Given the description of an element on the screen output the (x, y) to click on. 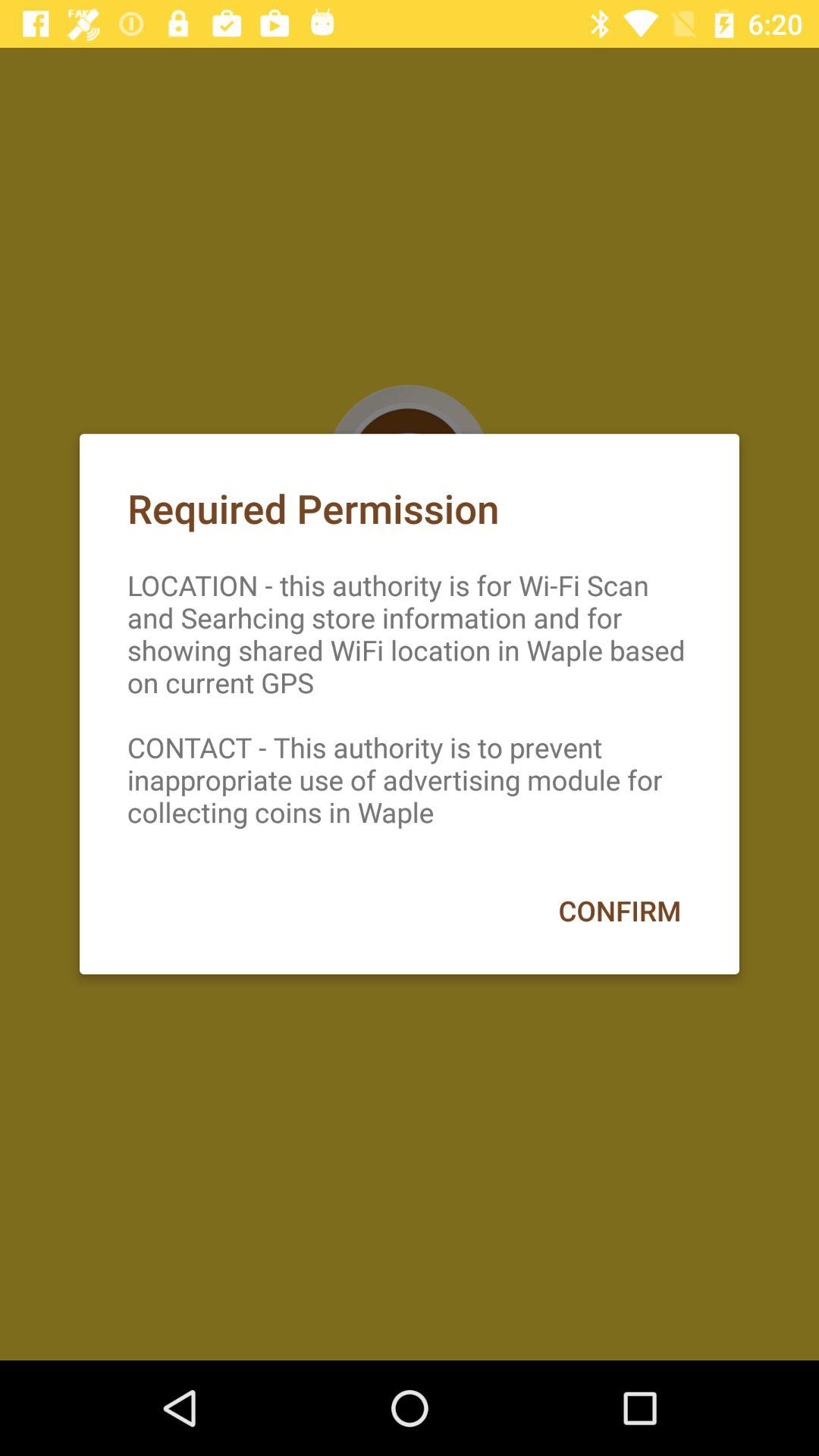
choose icon on the right (619, 910)
